Given the description of an element on the screen output the (x, y) to click on. 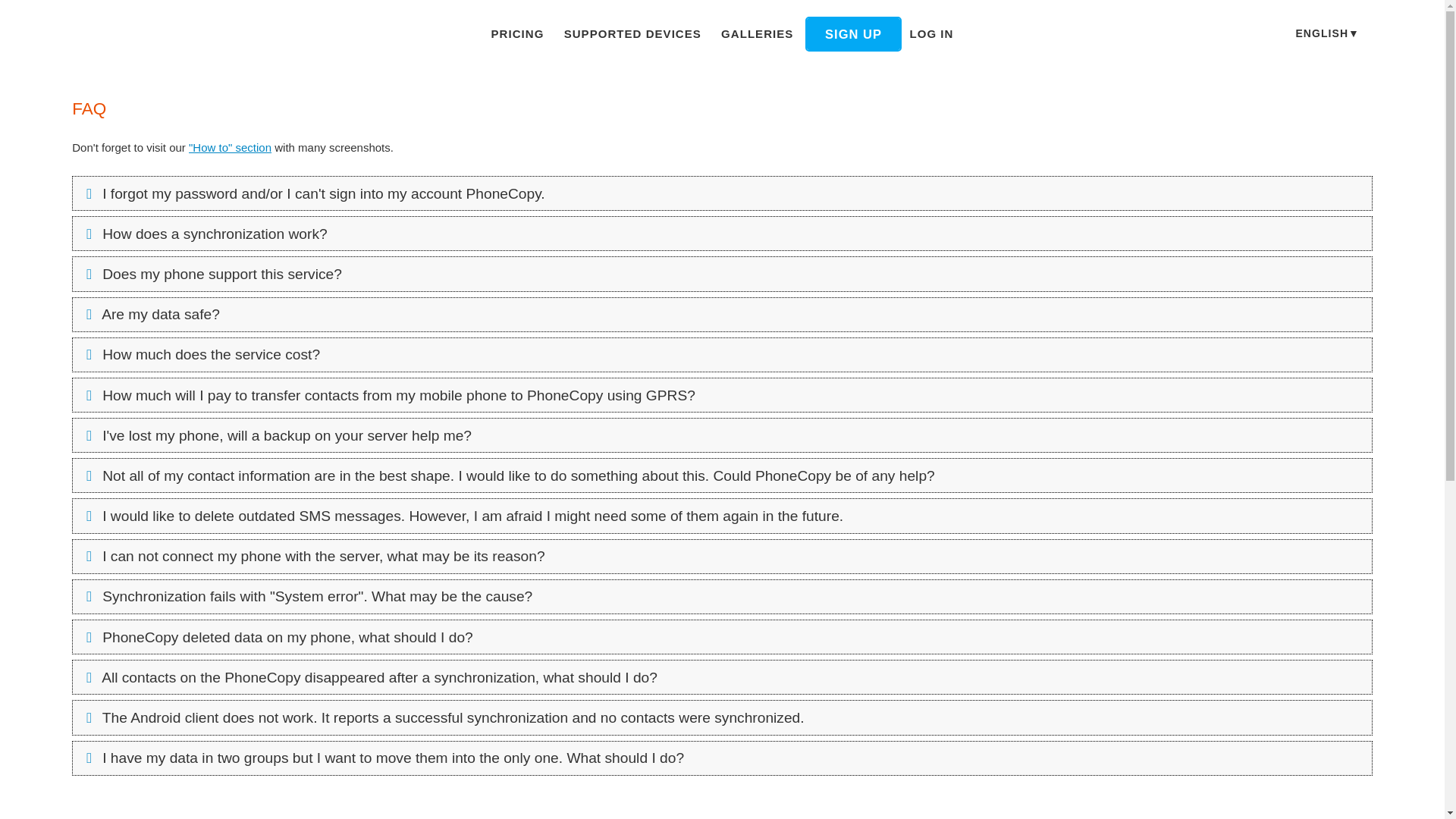
SIGN UP (853, 33)
"How to" section (229, 146)
LOG IN (930, 33)
GALLERIES (757, 33)
Phonecopy - Your Personal Cloud (161, 34)
SUPPORTED DEVICES (632, 33)
PRICING (517, 33)
